Given the description of an element on the screen output the (x, y) to click on. 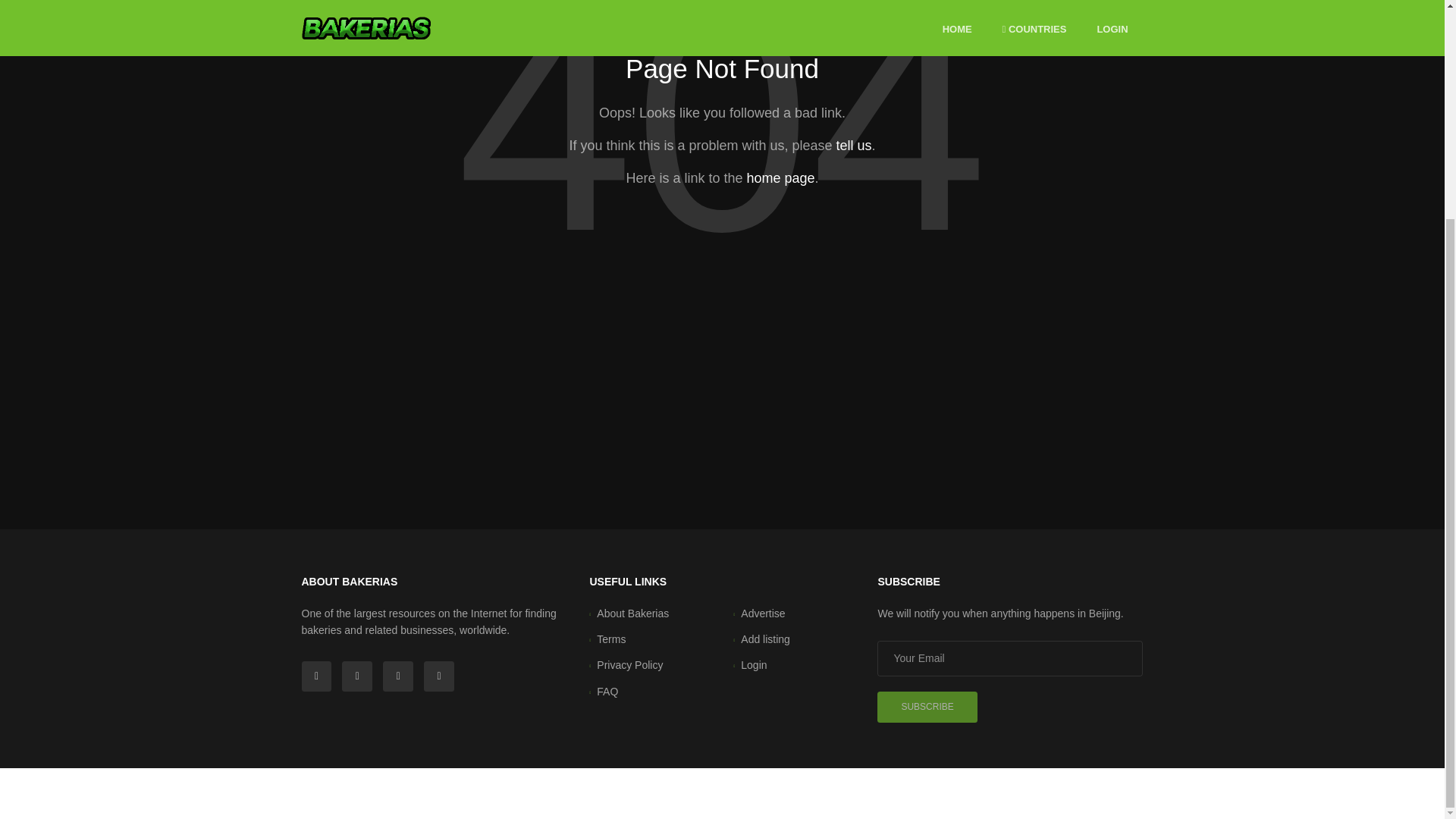
Terms (611, 638)
SUBSCRIBE (926, 706)
tell us (852, 145)
Login (754, 664)
home page (779, 177)
About Bakerias (632, 613)
Add listing (765, 638)
Advertise (762, 613)
Privacy Policy (629, 664)
FAQ (606, 691)
